Given the description of an element on the screen output the (x, y) to click on. 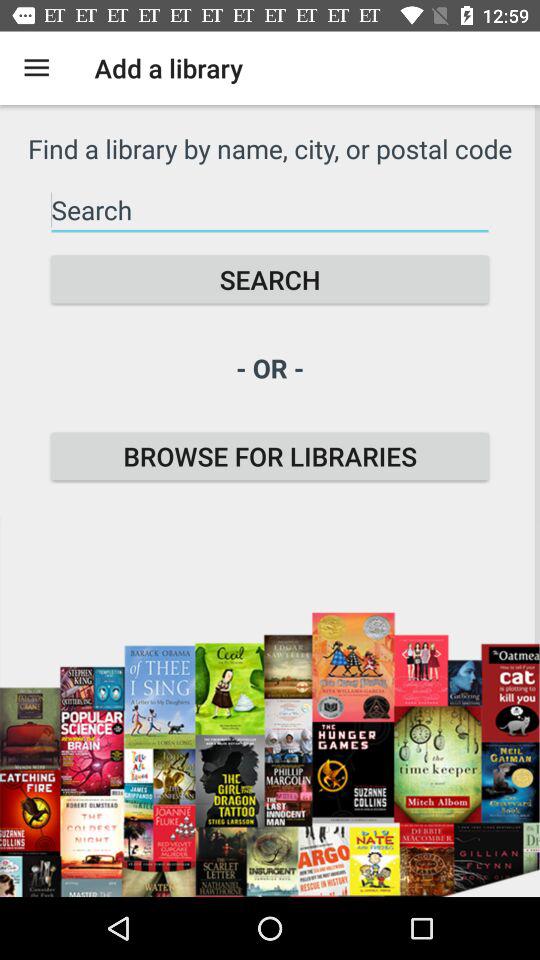
jump to the search icon (269, 279)
